Given the description of an element on the screen output the (x, y) to click on. 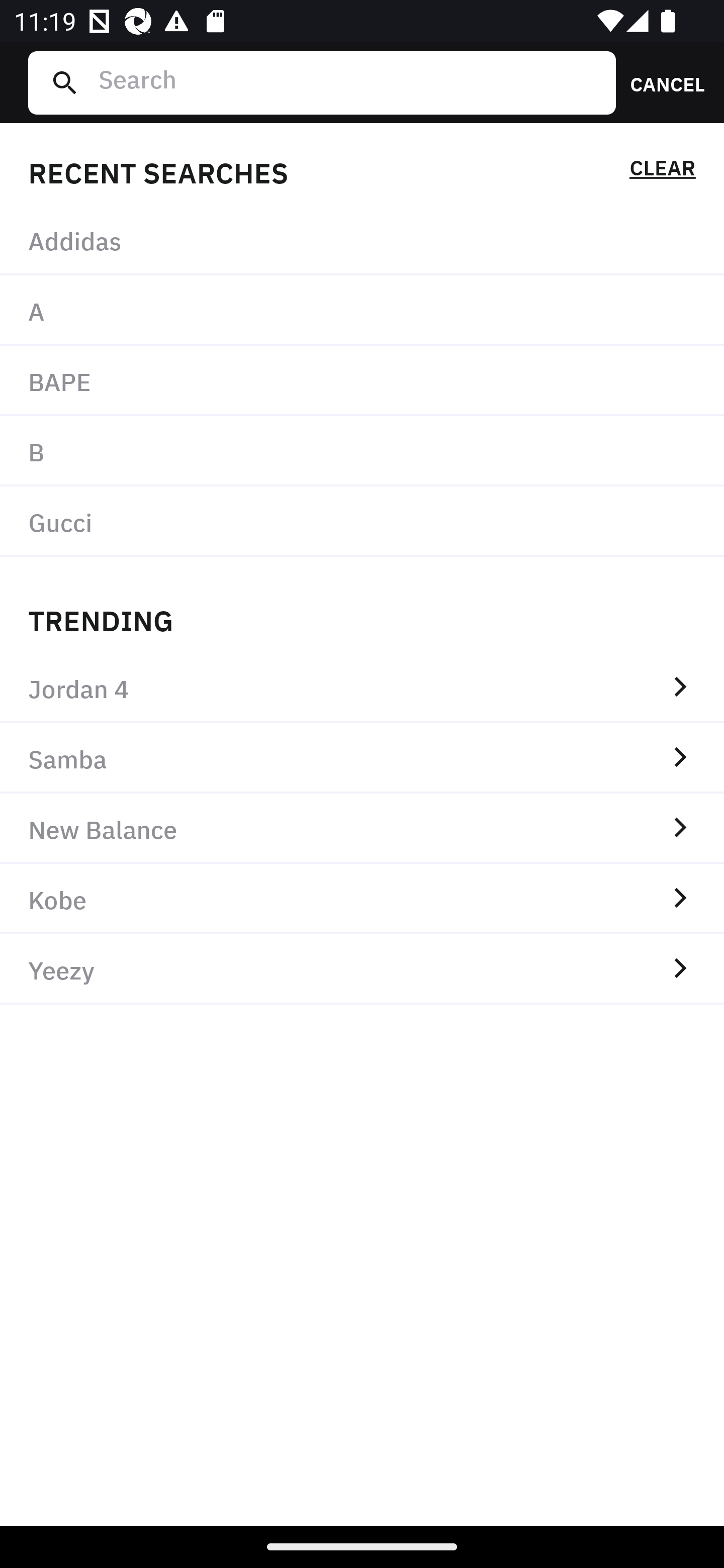
CANCEL (660, 82)
Search (349, 82)
CLEAR (662, 170)
Addidas (362, 240)
A (362, 310)
BAPE (362, 380)
B (362, 450)
Gucci (362, 521)
Jordan 4  (362, 687)
Samba  (362, 757)
New Balance  (362, 828)
Kobe  (362, 898)
Yeezy  (362, 969)
